Given the description of an element on the screen output the (x, y) to click on. 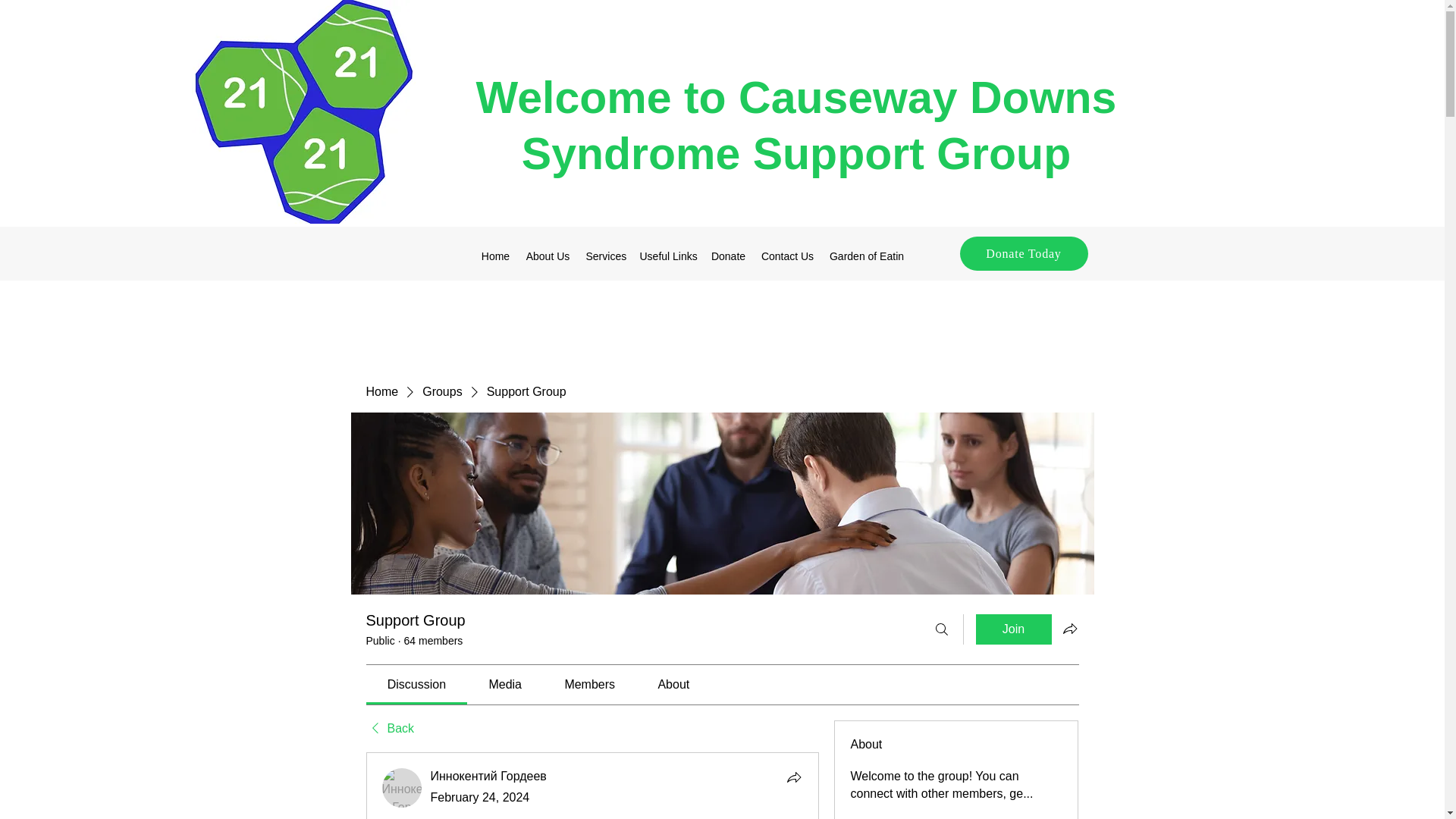
About Us (547, 255)
Back (389, 728)
Read more (880, 818)
Home (494, 255)
Groups (441, 392)
Contact Us (788, 255)
Donate Today (1023, 253)
Home (381, 392)
Donate (728, 255)
Join (1013, 629)
